Given the description of an element on the screen output the (x, y) to click on. 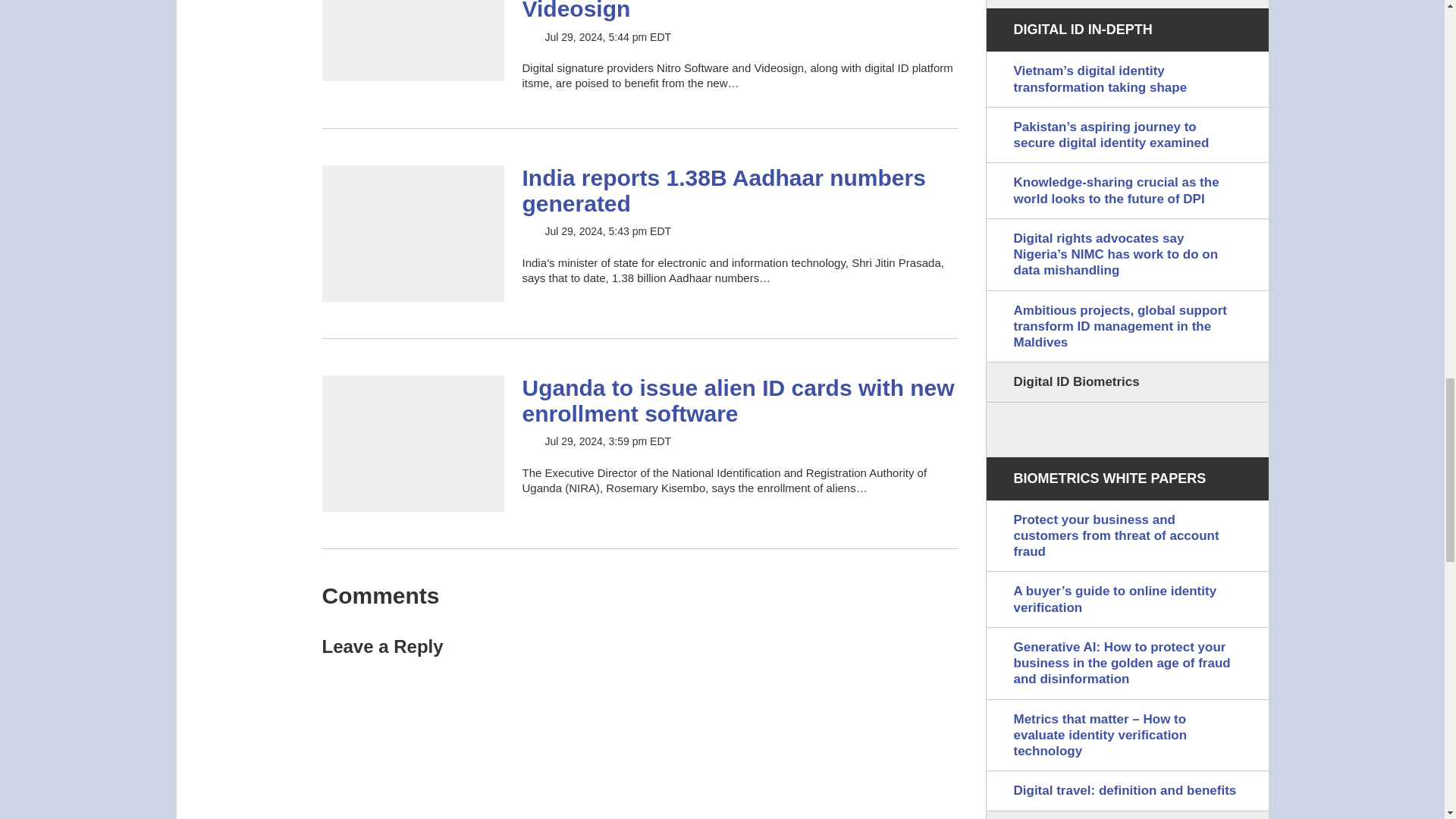
Comment Form (639, 738)
